Given the description of an element on the screen output the (x, y) to click on. 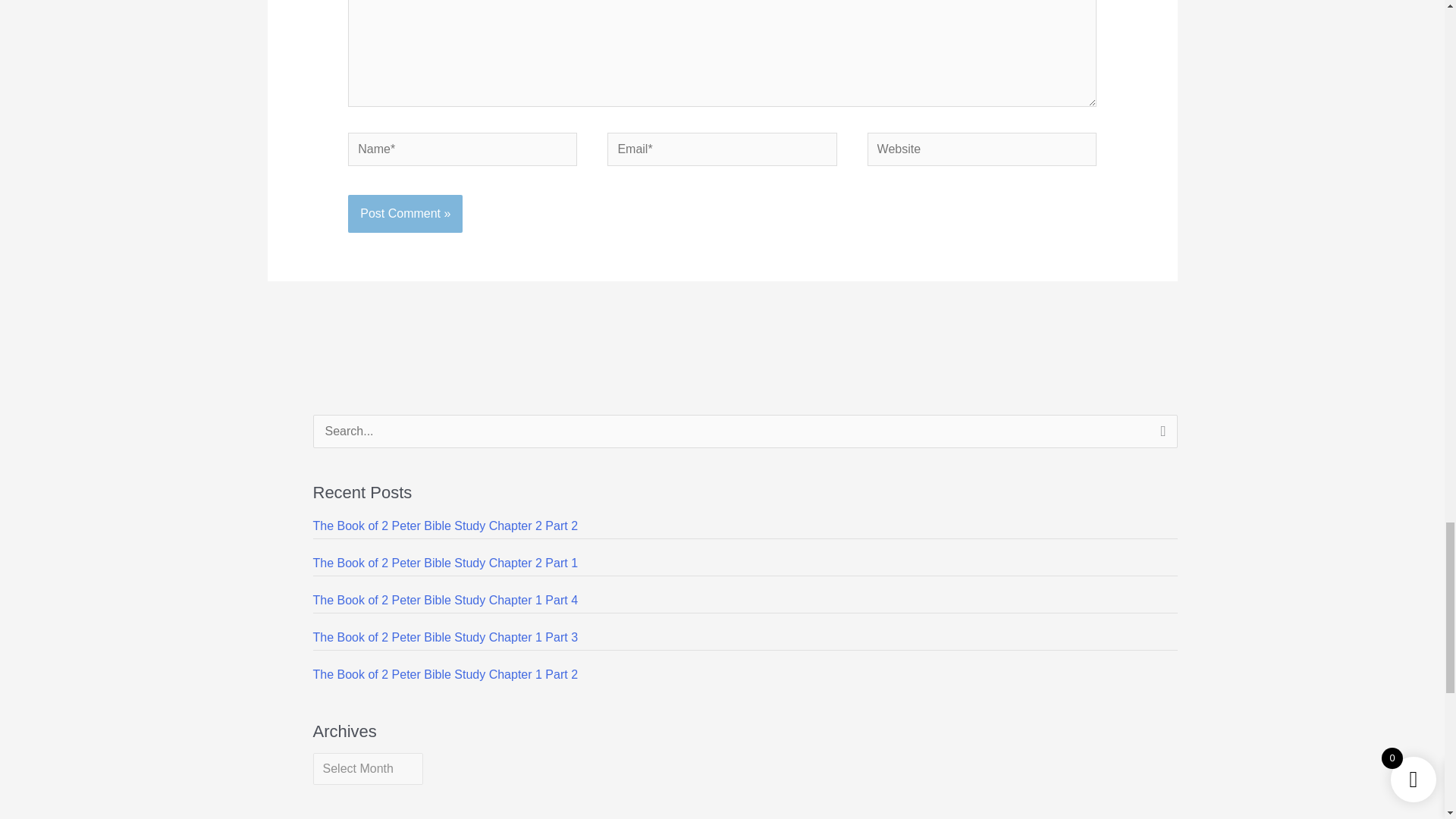
The Book of 2 Peter Bible Study Chapter 1 Part 4 (445, 599)
The Book of 2 Peter Bible Study Chapter 1 Part 3 (445, 636)
The Book of 2 Peter Bible Study Chapter 2 Part 1 (445, 562)
The Book of 2 Peter Bible Study Chapter 2 Part 2 (445, 525)
